Given the description of an element on the screen output the (x, y) to click on. 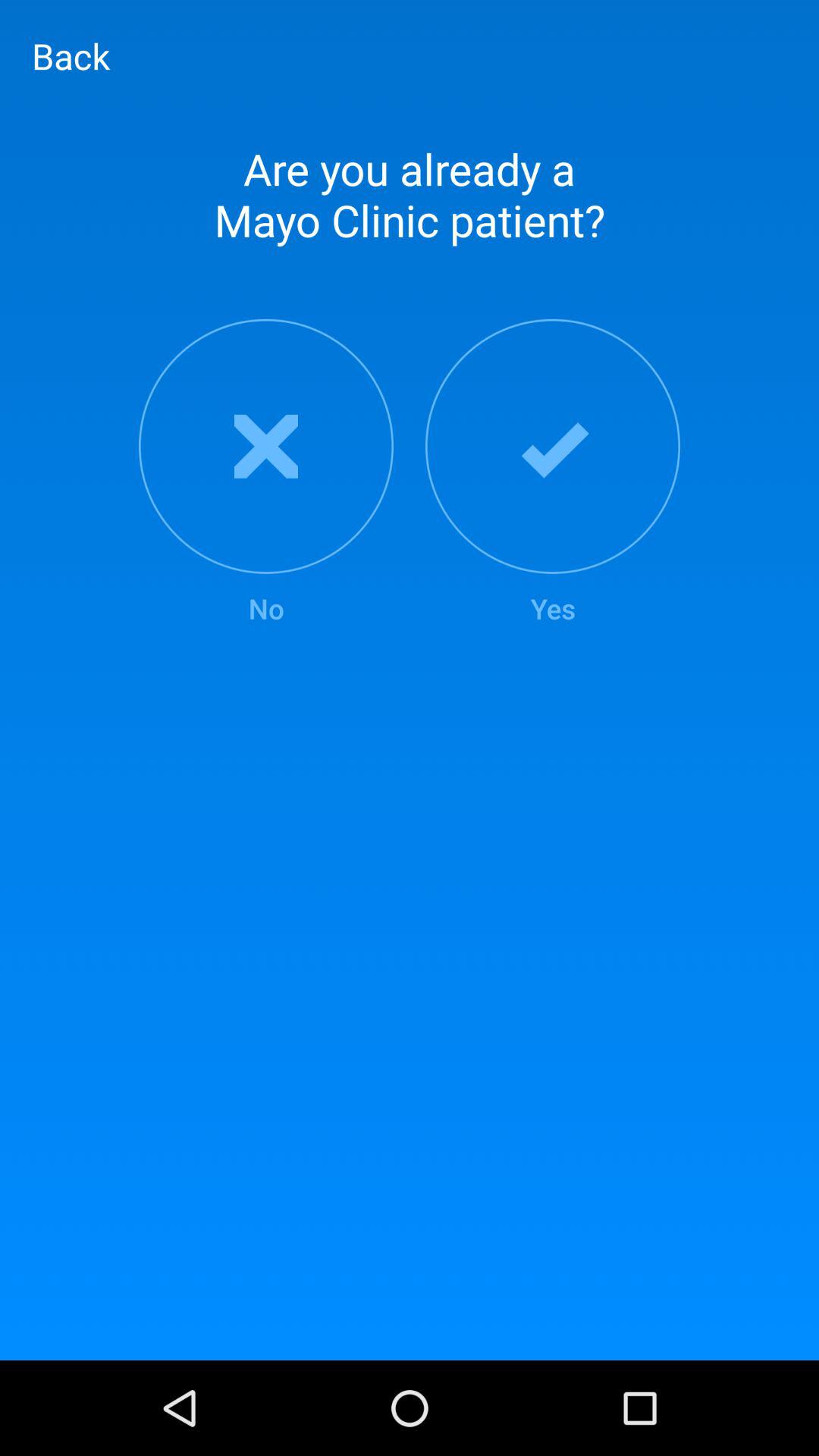
turn on the item at the top right corner (552, 473)
